Given the description of an element on the screen output the (x, y) to click on. 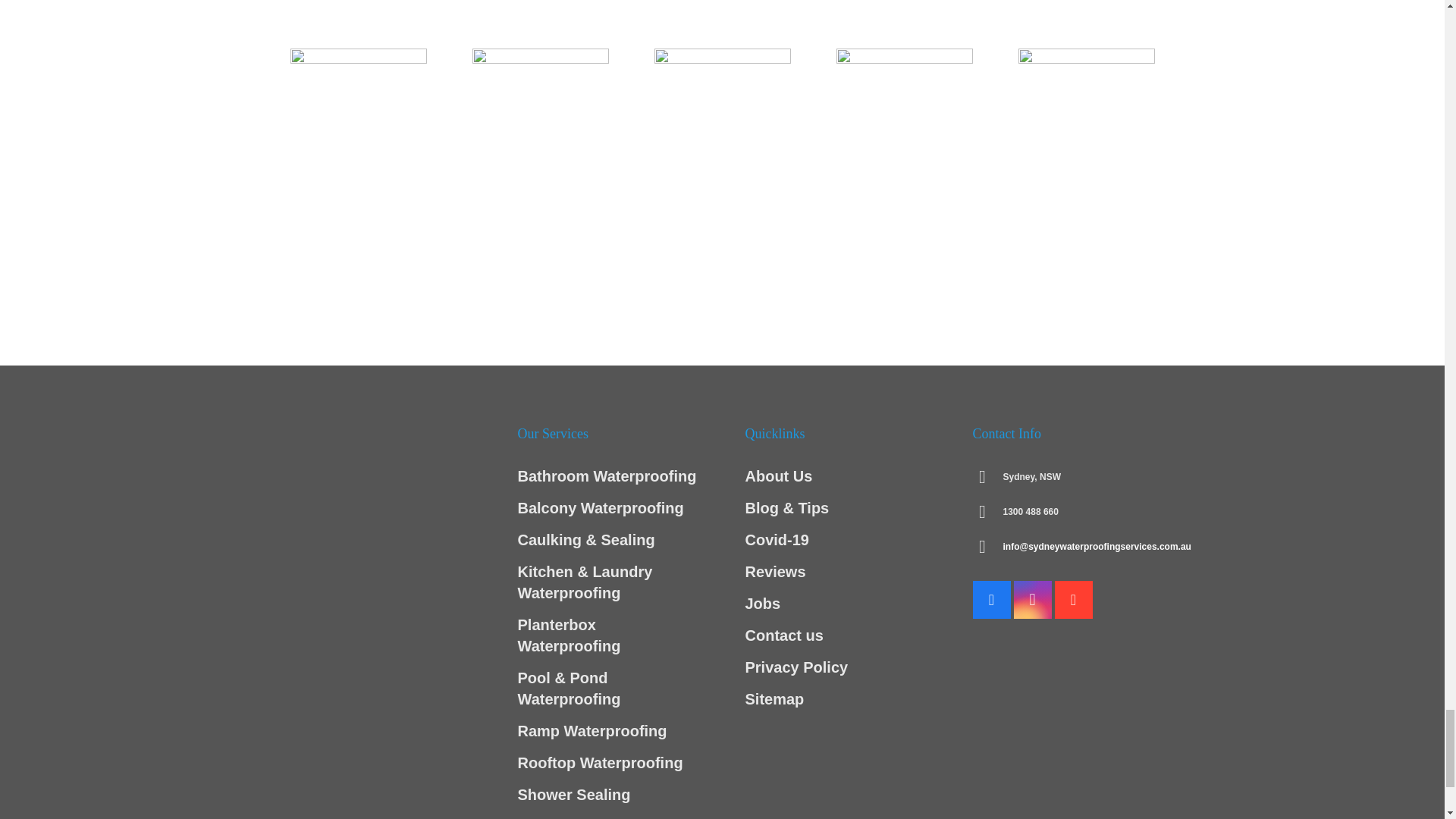
Facebook (991, 599)
Instagram (1032, 599)
Balcony Waterproofing (599, 507)
Bathroom Waterproofing (605, 475)
Google (1073, 599)
